Given the description of an element on the screen output the (x, y) to click on. 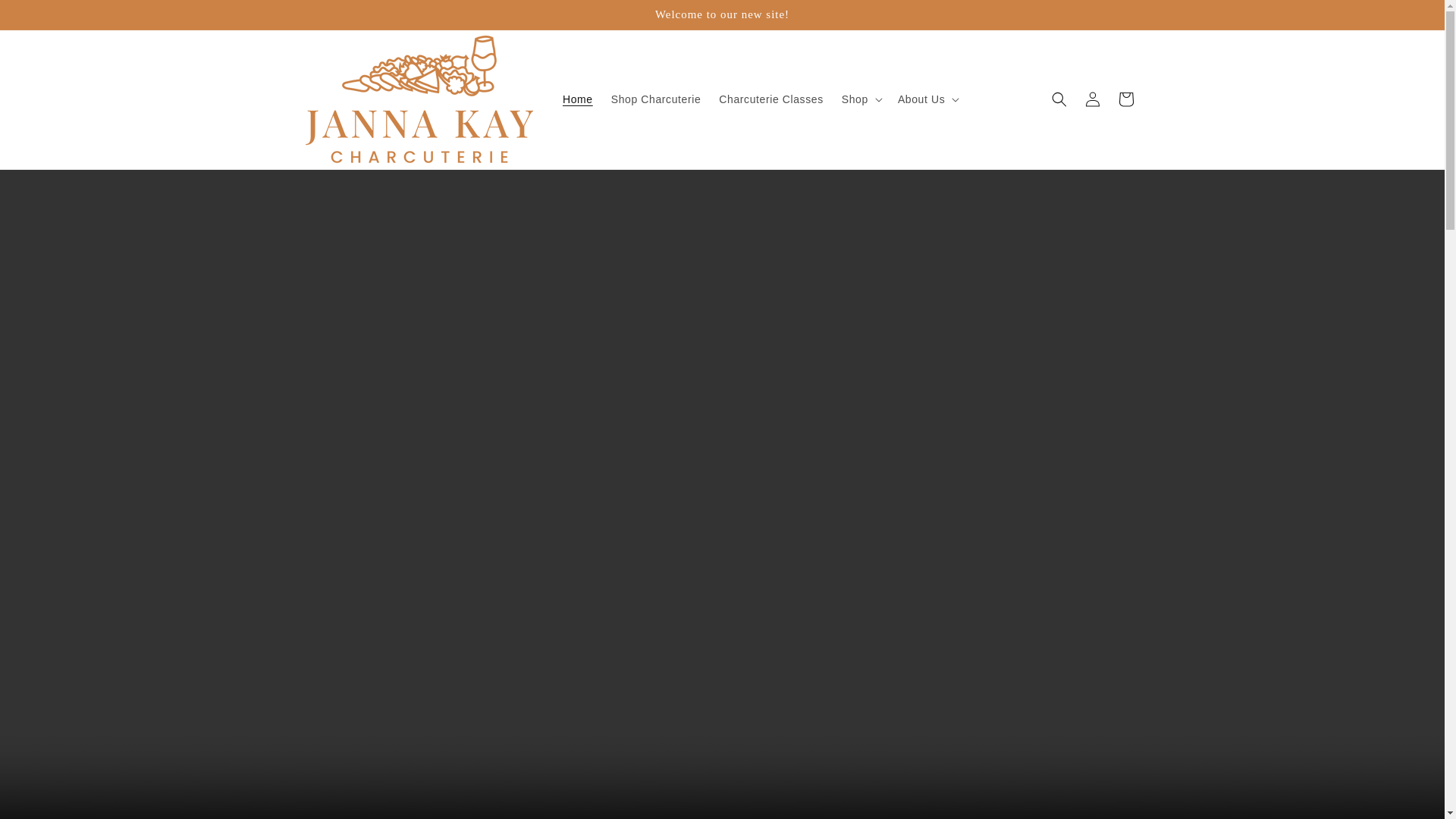
Home (577, 99)
Charcuterie Classes (770, 99)
Shop Charcuterie (656, 99)
Skip to content (45, 17)
Log in (1091, 99)
Cart (1124, 99)
